Given the description of an element on the screen output the (x, y) to click on. 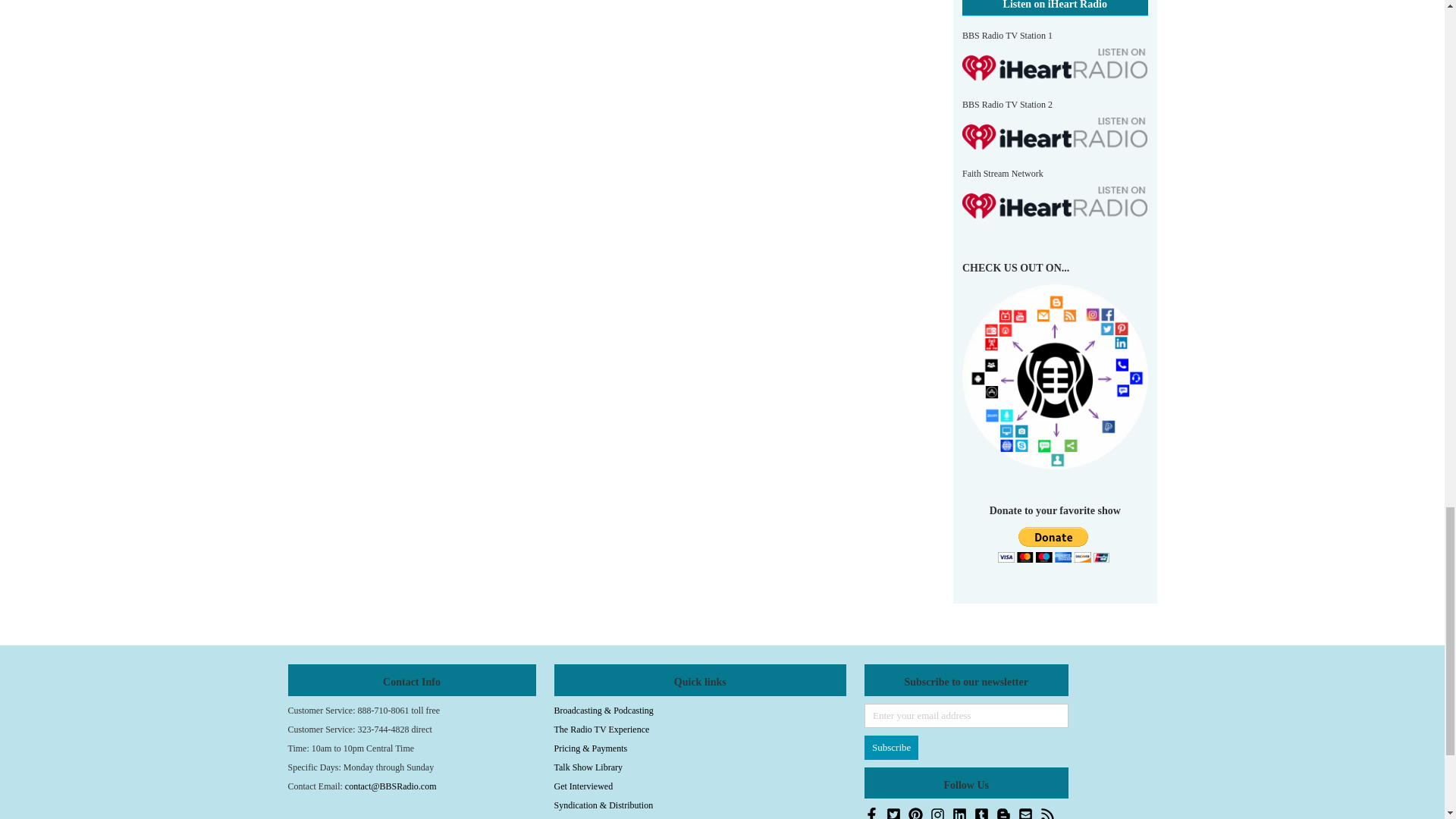
Subscribe (891, 747)
